Given the description of an element on the screen output the (x, y) to click on. 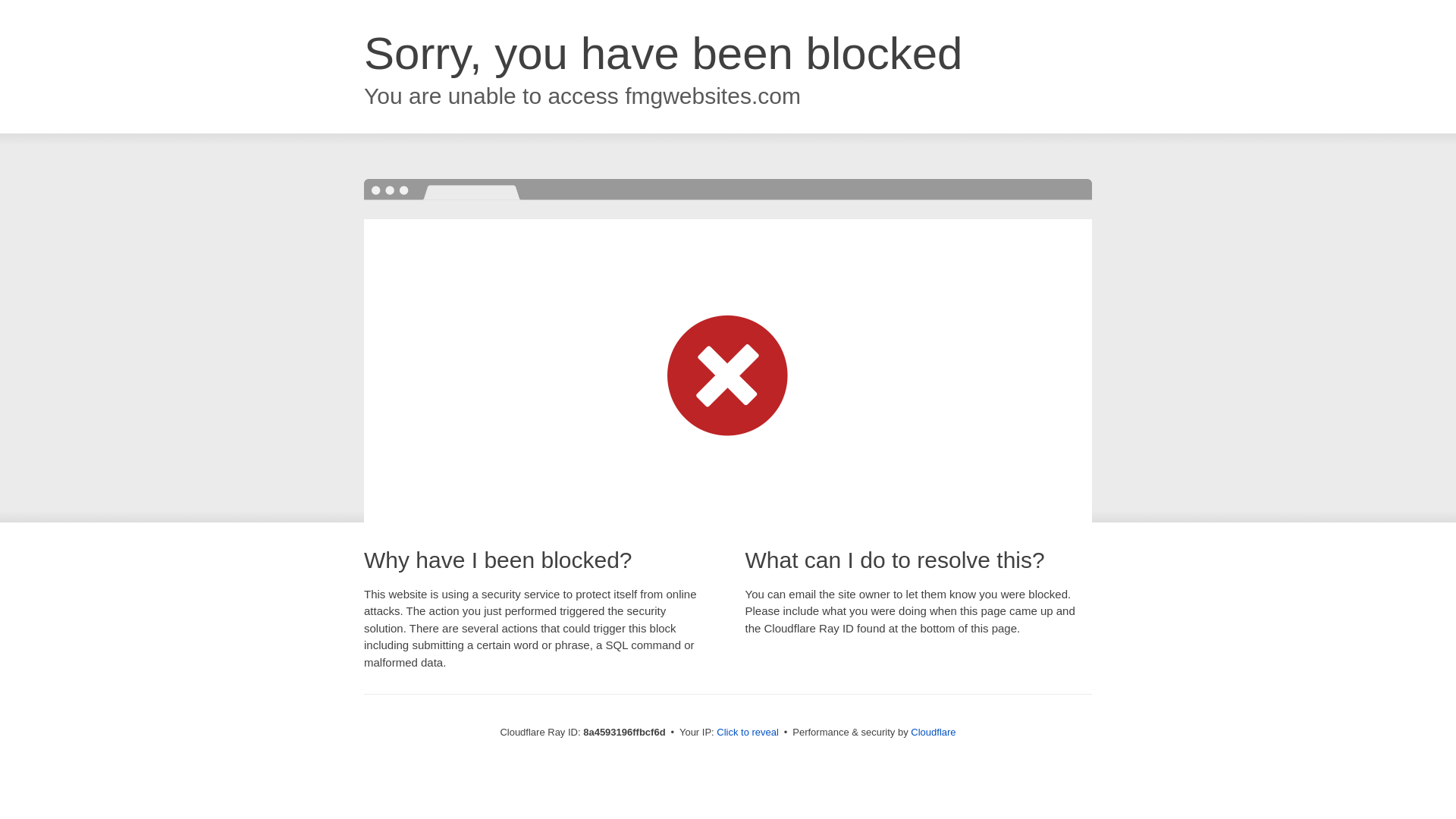
Cloudflare (933, 731)
Click to reveal (747, 732)
